Given the description of an element on the screen output the (x, y) to click on. 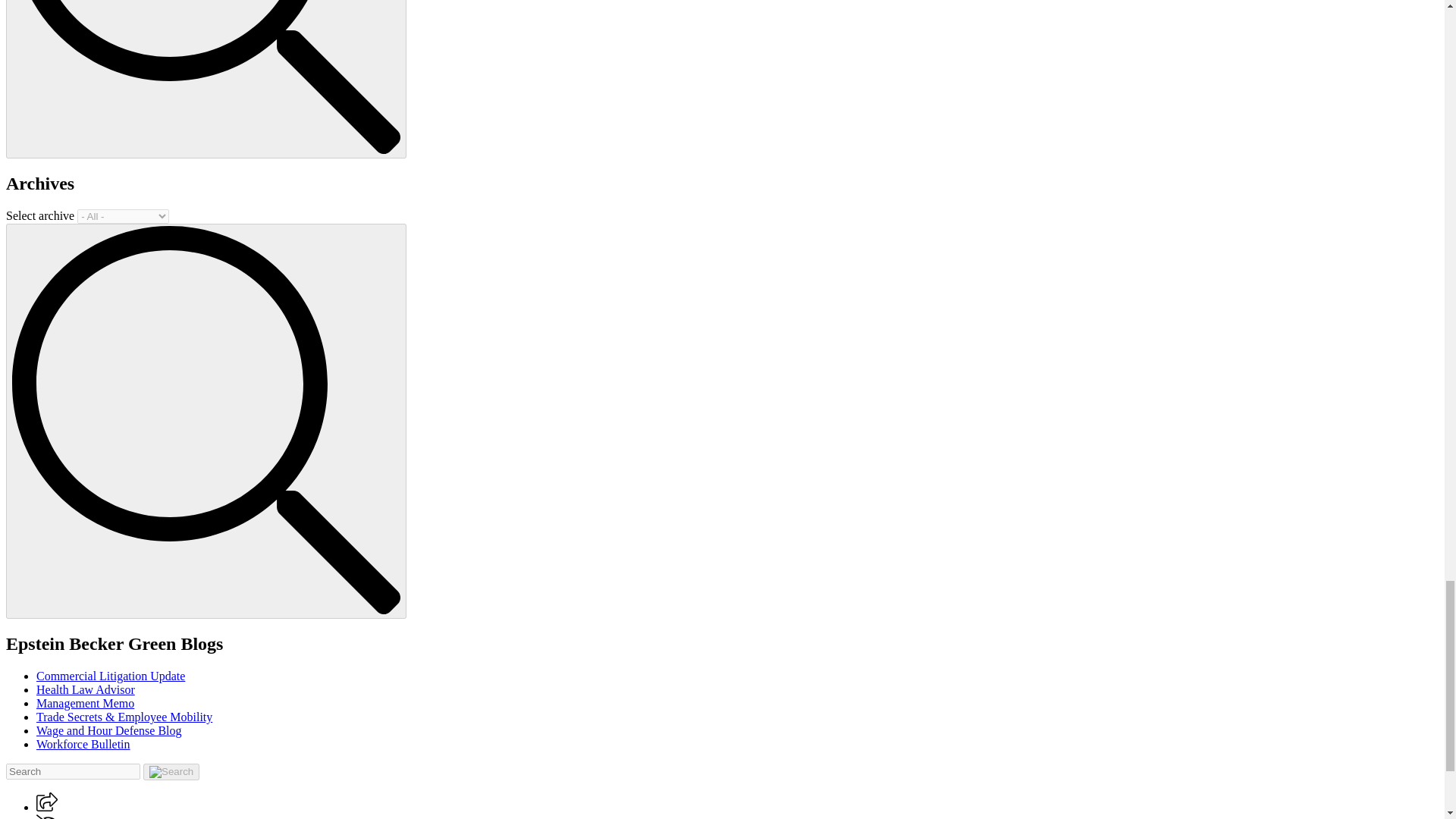
Share (47, 801)
Search (205, 76)
Go to the privacy settings (47, 816)
Share (47, 807)
